Given the description of an element on the screen output the (x, y) to click on. 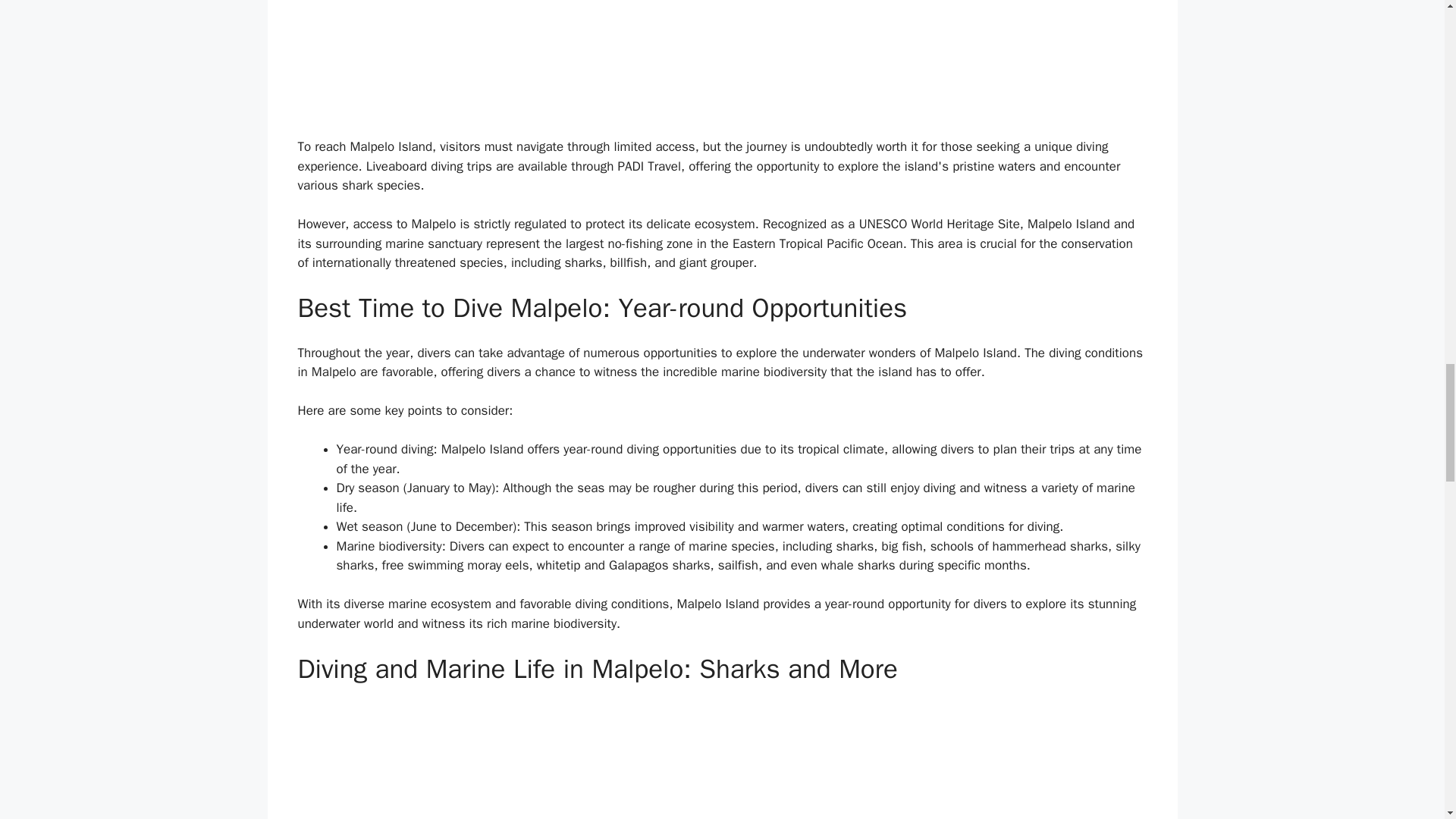
YouTube video player (722, 61)
YouTube video player (722, 761)
